Given the description of an element on the screen output the (x, y) to click on. 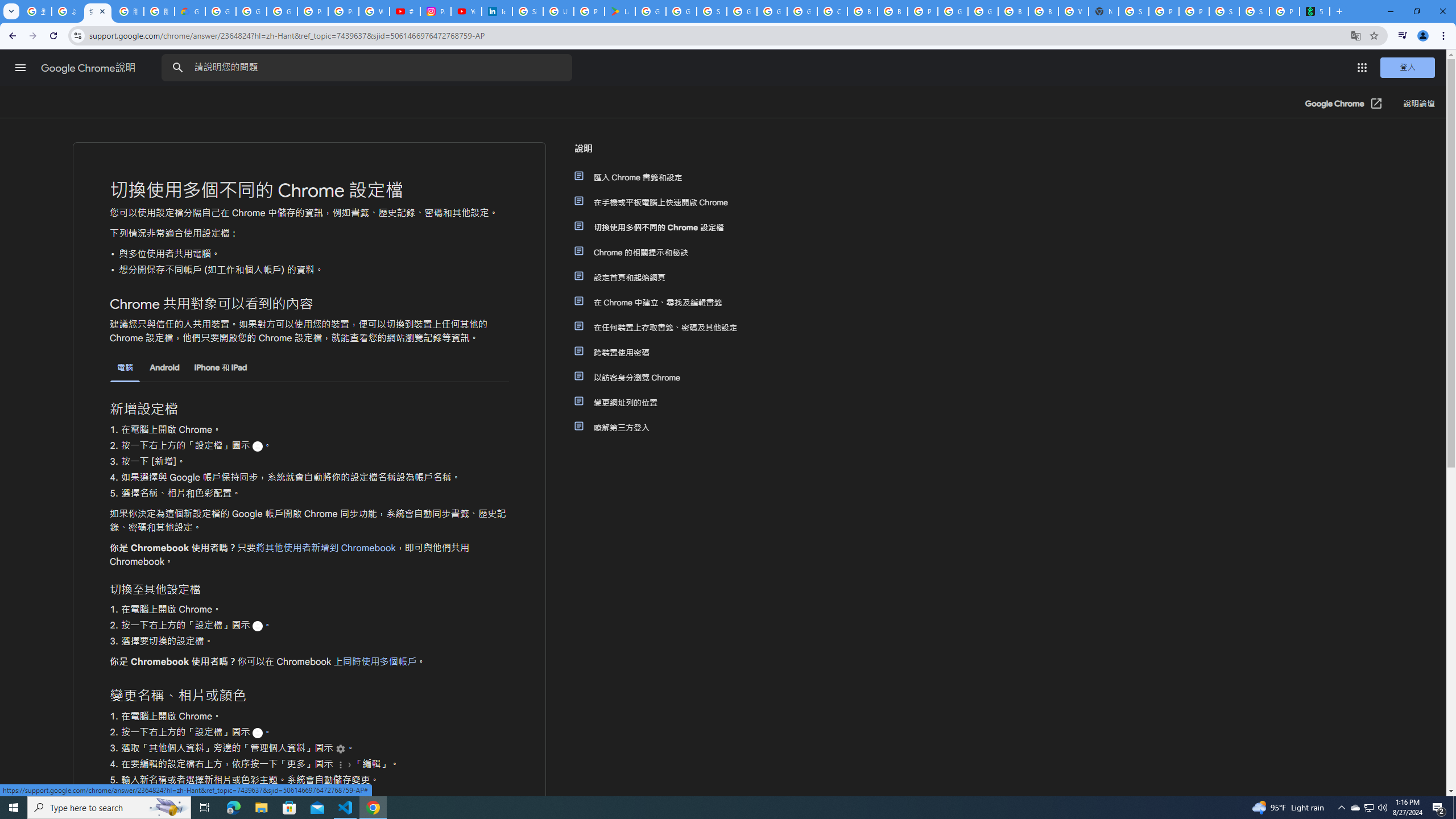
Sign in - Google Accounts (711, 11)
New Tab (1103, 11)
Android (164, 367)
